Given the description of an element on the screen output the (x, y) to click on. 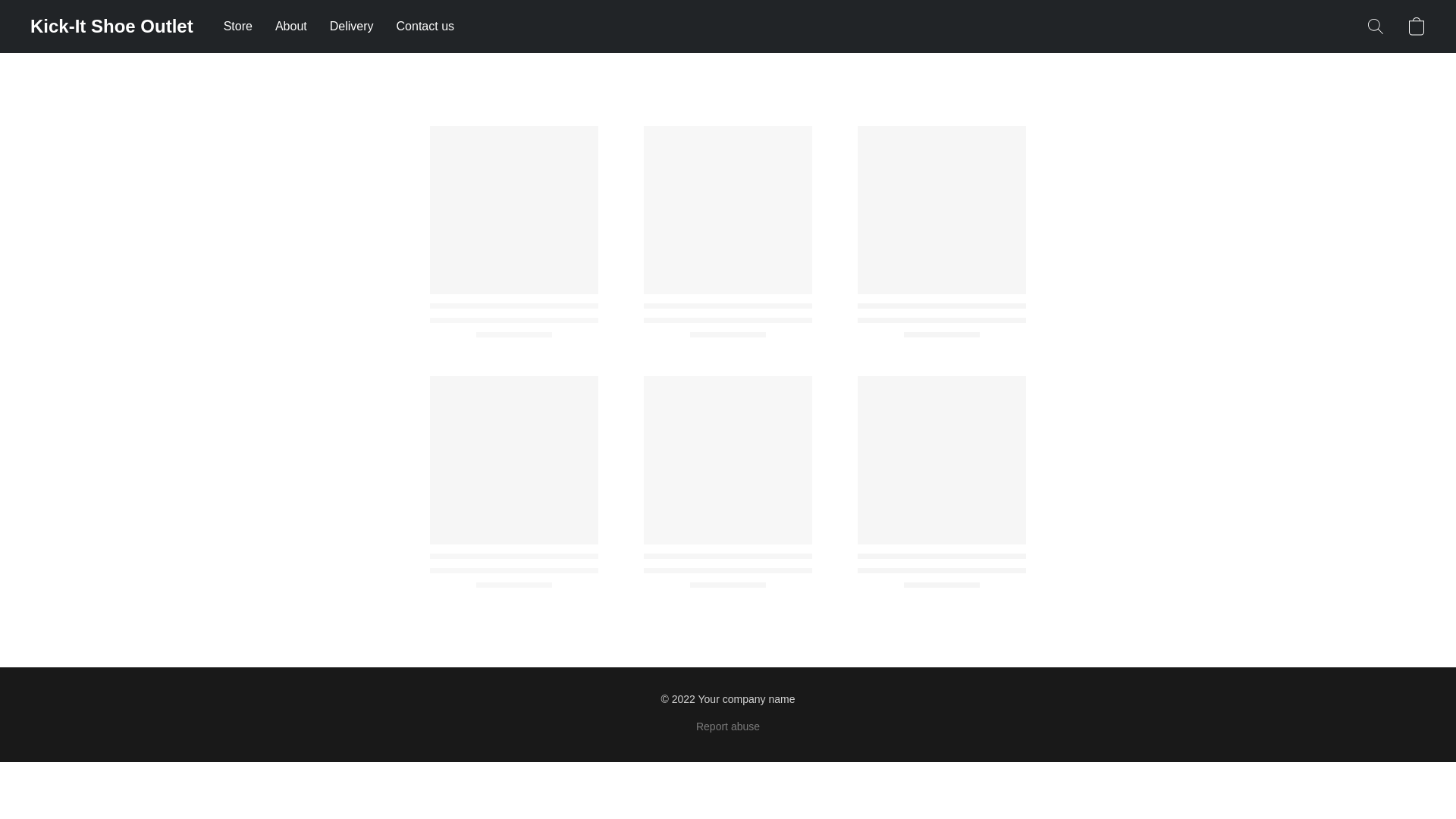
Report abuse (727, 726)
Search the website (1375, 26)
Go to your shopping cart (1416, 26)
Store (243, 26)
Kick-It Shoe Outlet (111, 26)
Contact us (419, 26)
About (290, 26)
Delivery (351, 26)
